Given the description of an element on the screen output the (x, y) to click on. 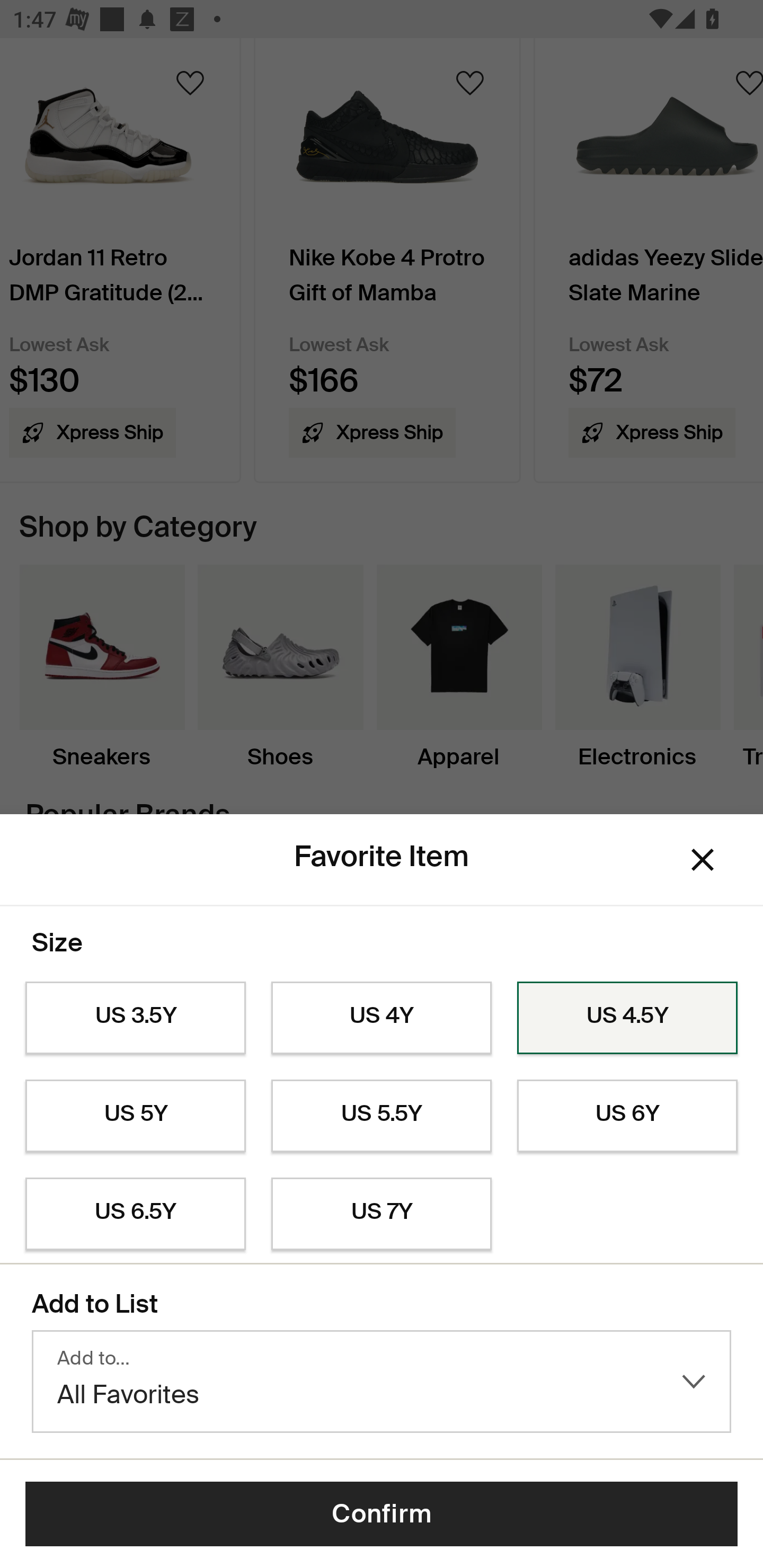
Dismiss (702, 859)
US 3.5Y (135, 1018)
US 4Y (381, 1018)
US 4.5Y (627, 1018)
US 5Y (135, 1116)
US 5.5Y (381, 1116)
US 6Y (627, 1116)
US 6.5Y (135, 1214)
US 7Y (381, 1214)
Add to… All Favorites (381, 1381)
Confirm (381, 1513)
